Given the description of an element on the screen output the (x, y) to click on. 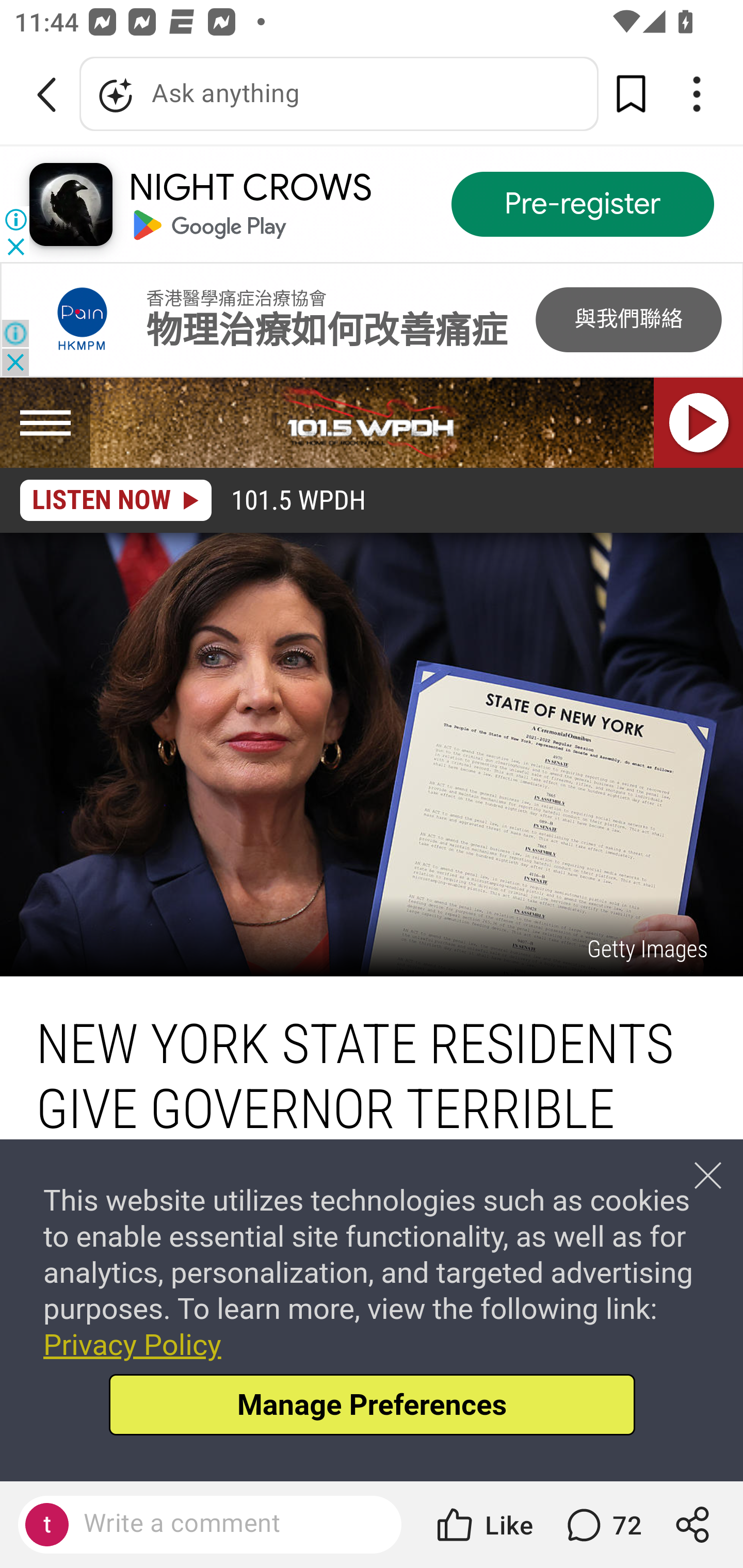
Ask anything (338, 93)
NIGHT CROWS (250, 187)
Pre-register (582, 205)
香港醫學痛症治療協會 (236, 298)
與我們聯絡 (628, 319)
物理治療如何改善痛症 (326, 331)
101.5 WPDH (371, 422)
Listen Now (698, 422)
Close this dialog (708, 1175)
Privacy Policy (132, 1344)
Manage Preferences (372, 1403)
Like (483, 1524)
72 (601, 1524)
Write a comment (226, 1523)
